Given the description of an element on the screen output the (x, y) to click on. 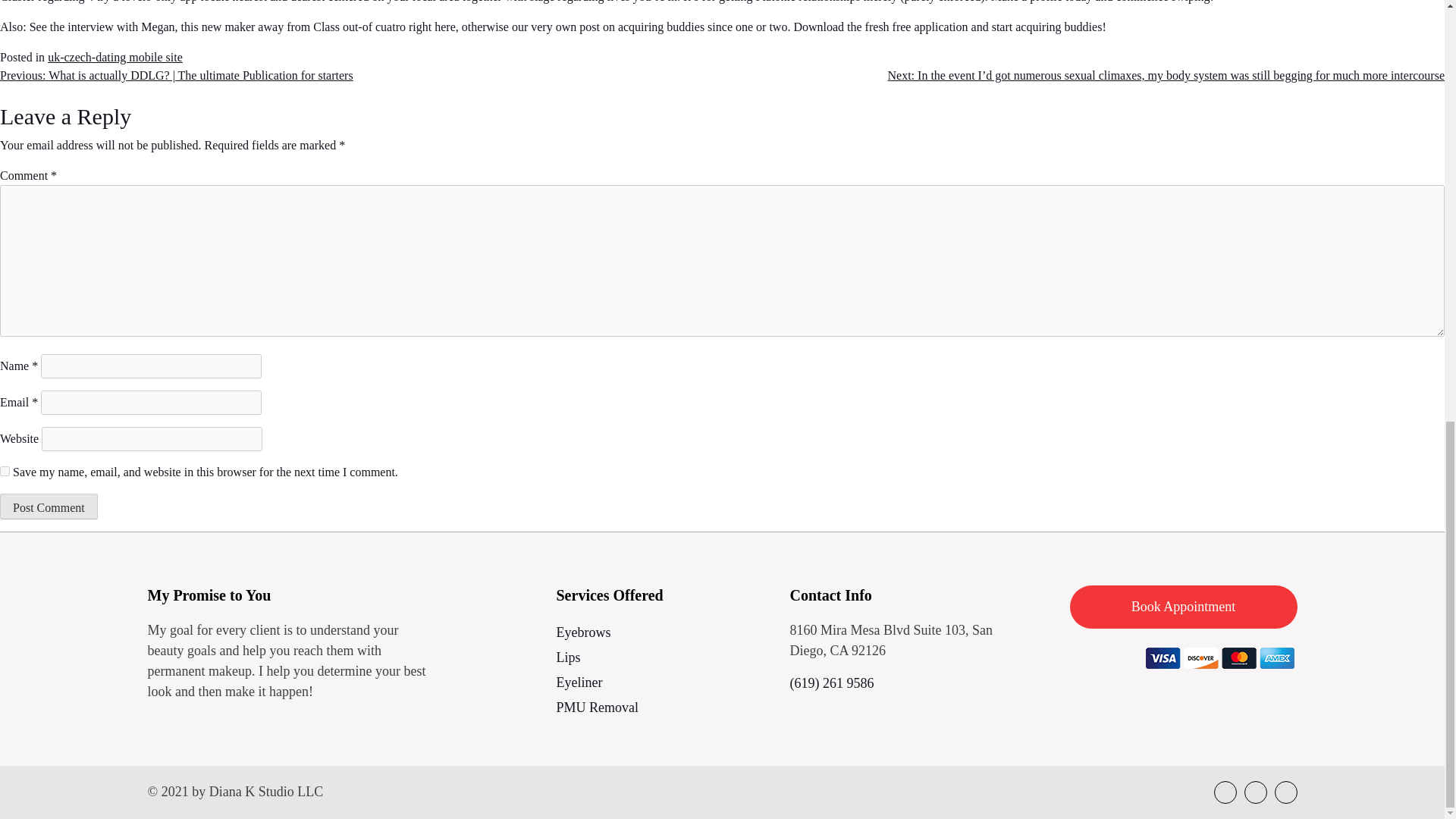
Eyeliner (663, 682)
uk-czech-dating mobile site (115, 56)
Lips (663, 657)
Eyebrows (663, 632)
Post Comment (48, 506)
Post Comment (48, 506)
yes (5, 470)
